Given the description of an element on the screen output the (x, y) to click on. 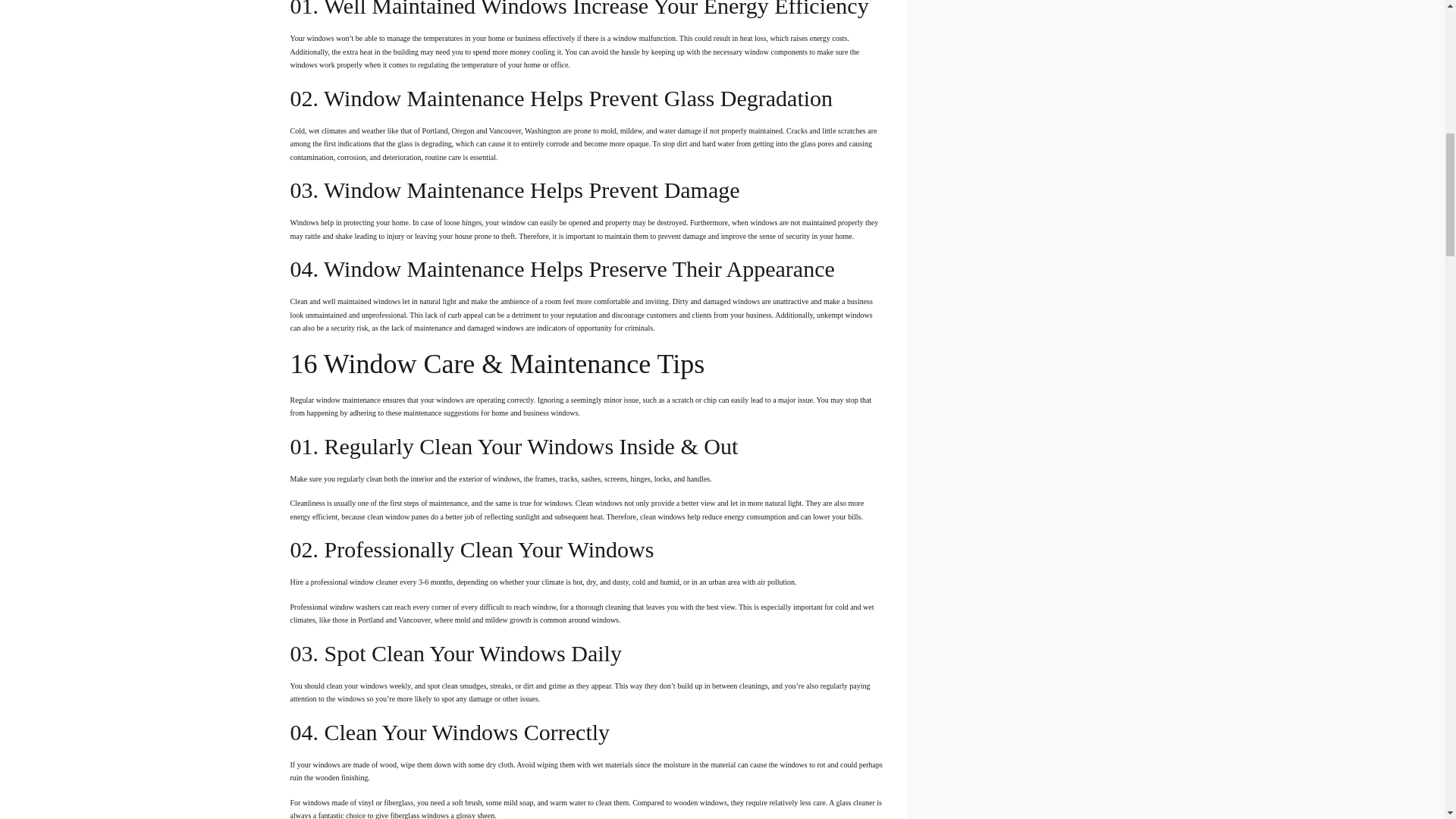
professional window cleaner (354, 582)
curb appeal (464, 315)
ambience (514, 301)
